Given the description of an element on the screen output the (x, y) to click on. 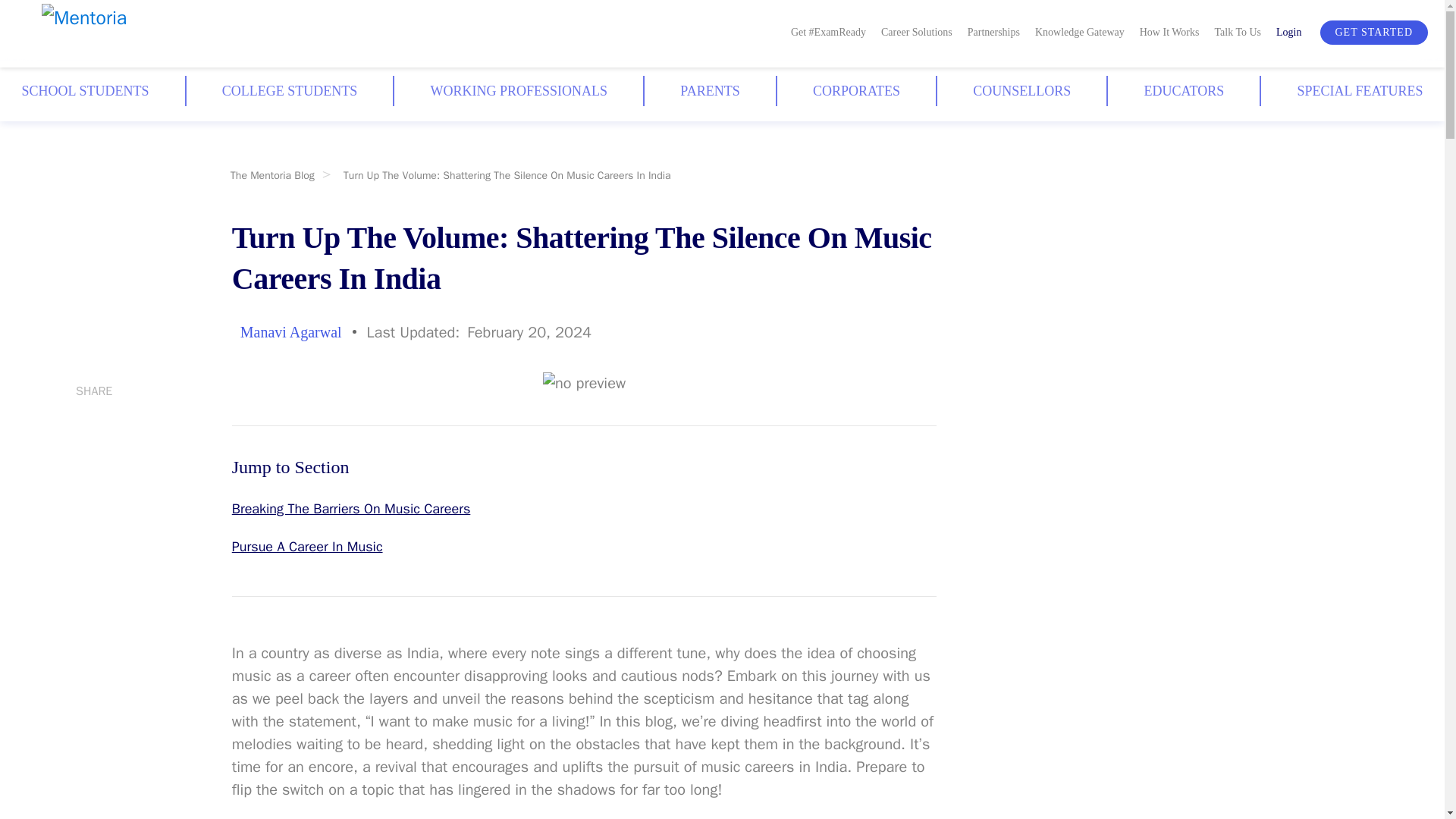
Mentoria (123, 34)
Career Solutions (916, 30)
